Given the description of an element on the screen output the (x, y) to click on. 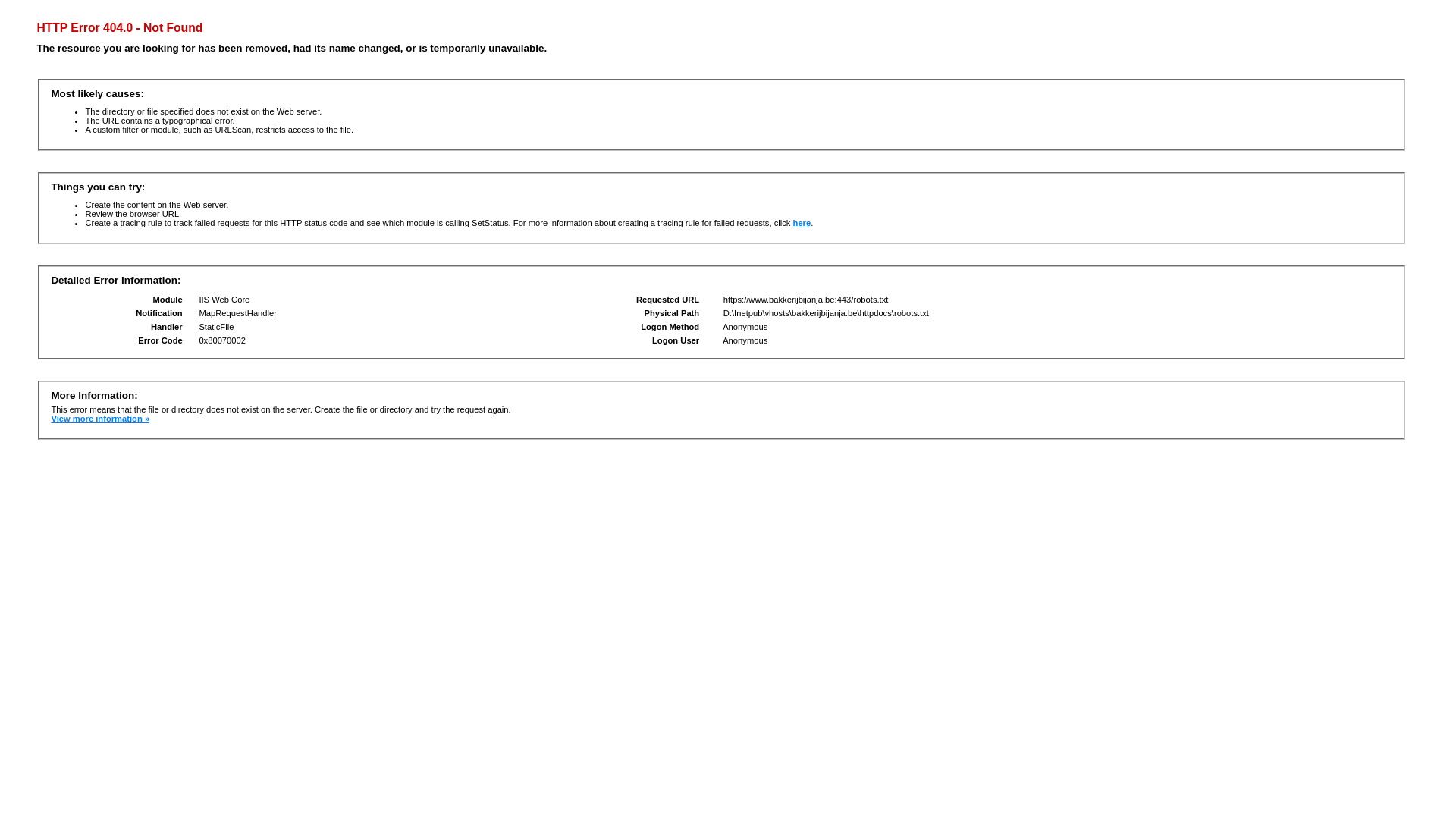
here Element type: text (802, 222)
